Given the description of an element on the screen output the (x, y) to click on. 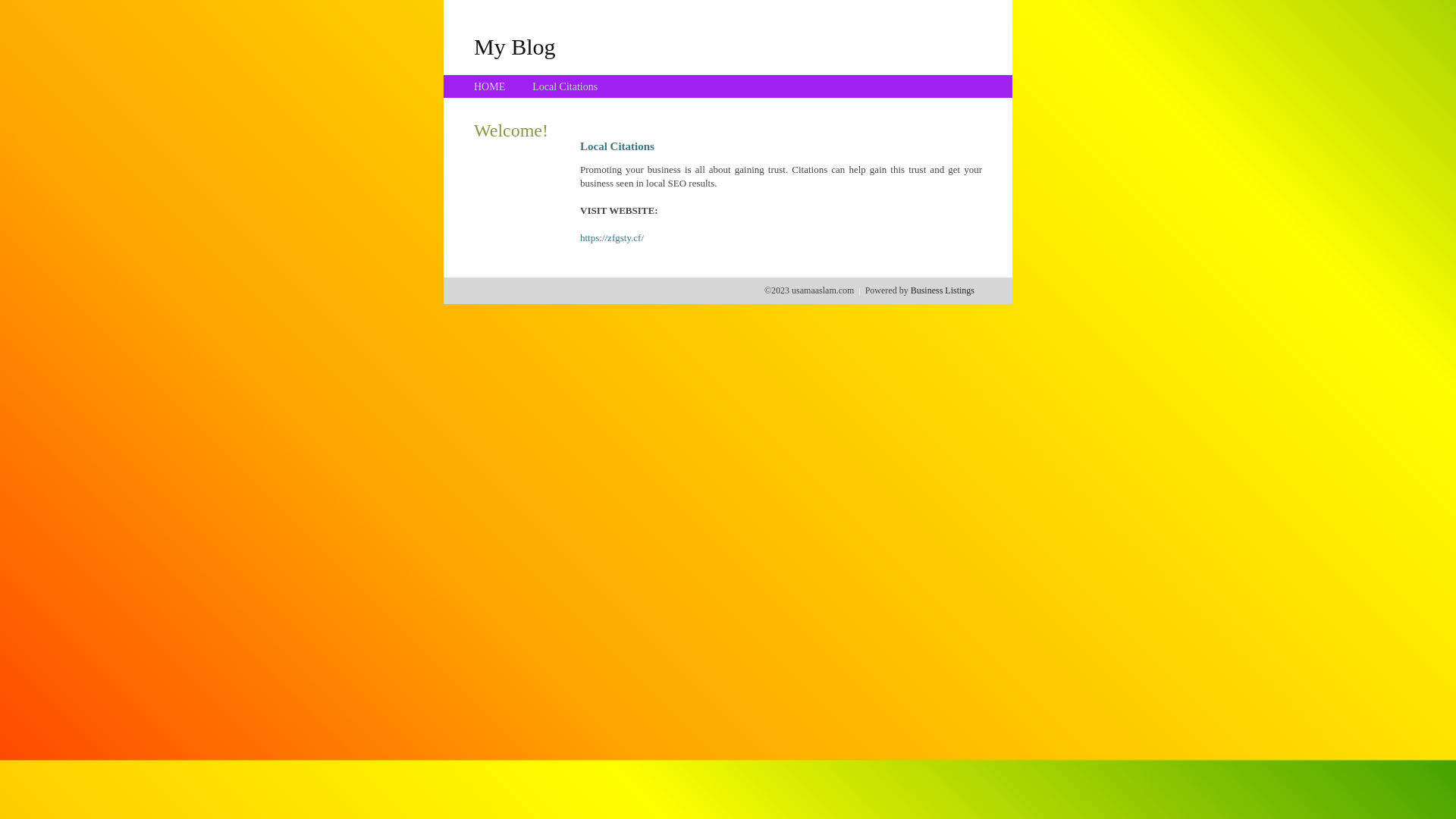
https://zfgsty.cf/ Element type: text (611, 237)
HOME Element type: text (489, 86)
My Blog Element type: text (514, 46)
Local Citations Element type: text (564, 86)
Business Listings Element type: text (942, 290)
